Given the description of an element on the screen output the (x, y) to click on. 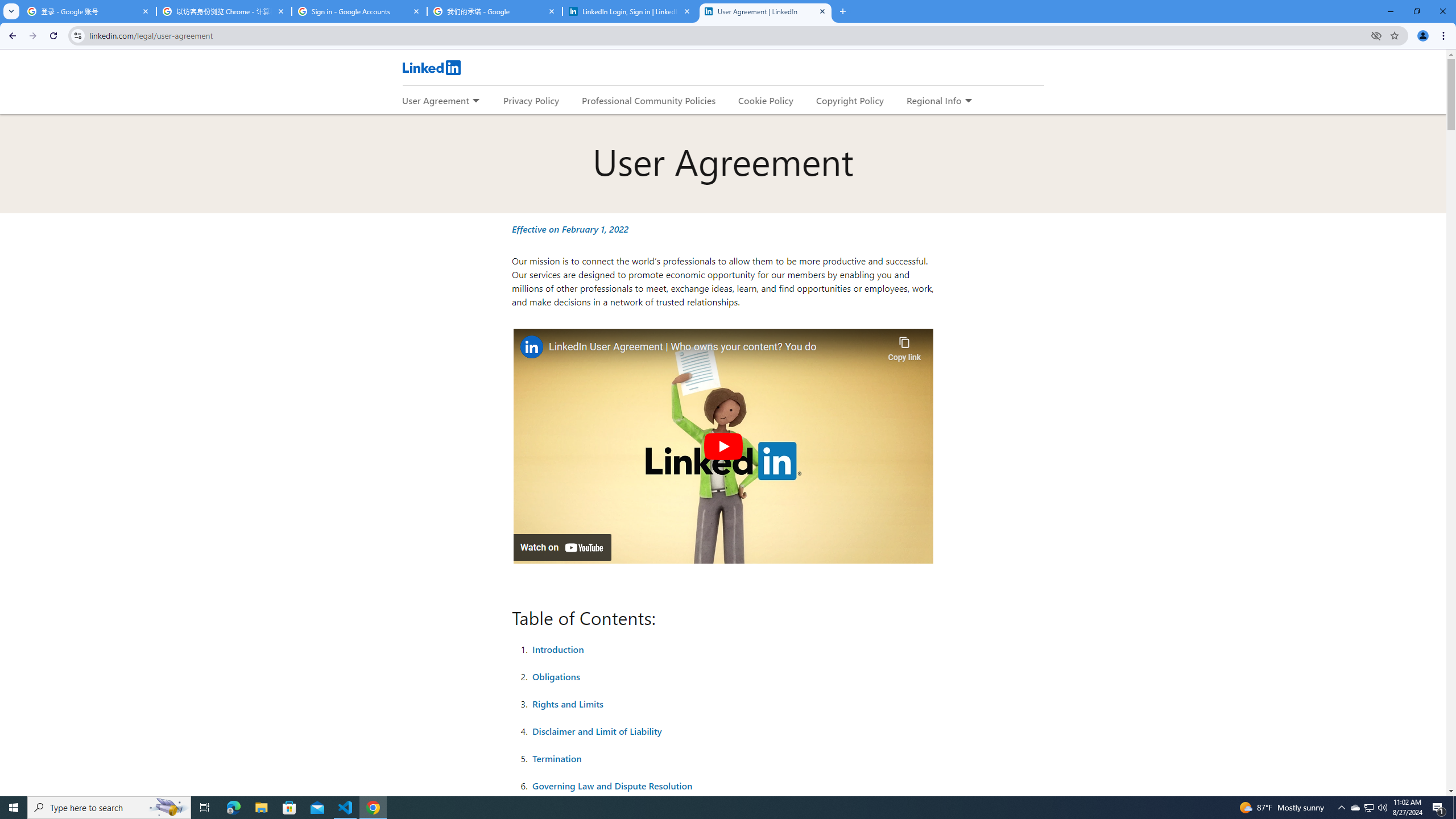
Copy link (904, 345)
User Agreement | LinkedIn (765, 11)
Play (722, 446)
Professional Community Policies (649, 100)
Rights and Limits (567, 703)
Copyright Policy (849, 100)
